Given the description of an element on the screen output the (x, y) to click on. 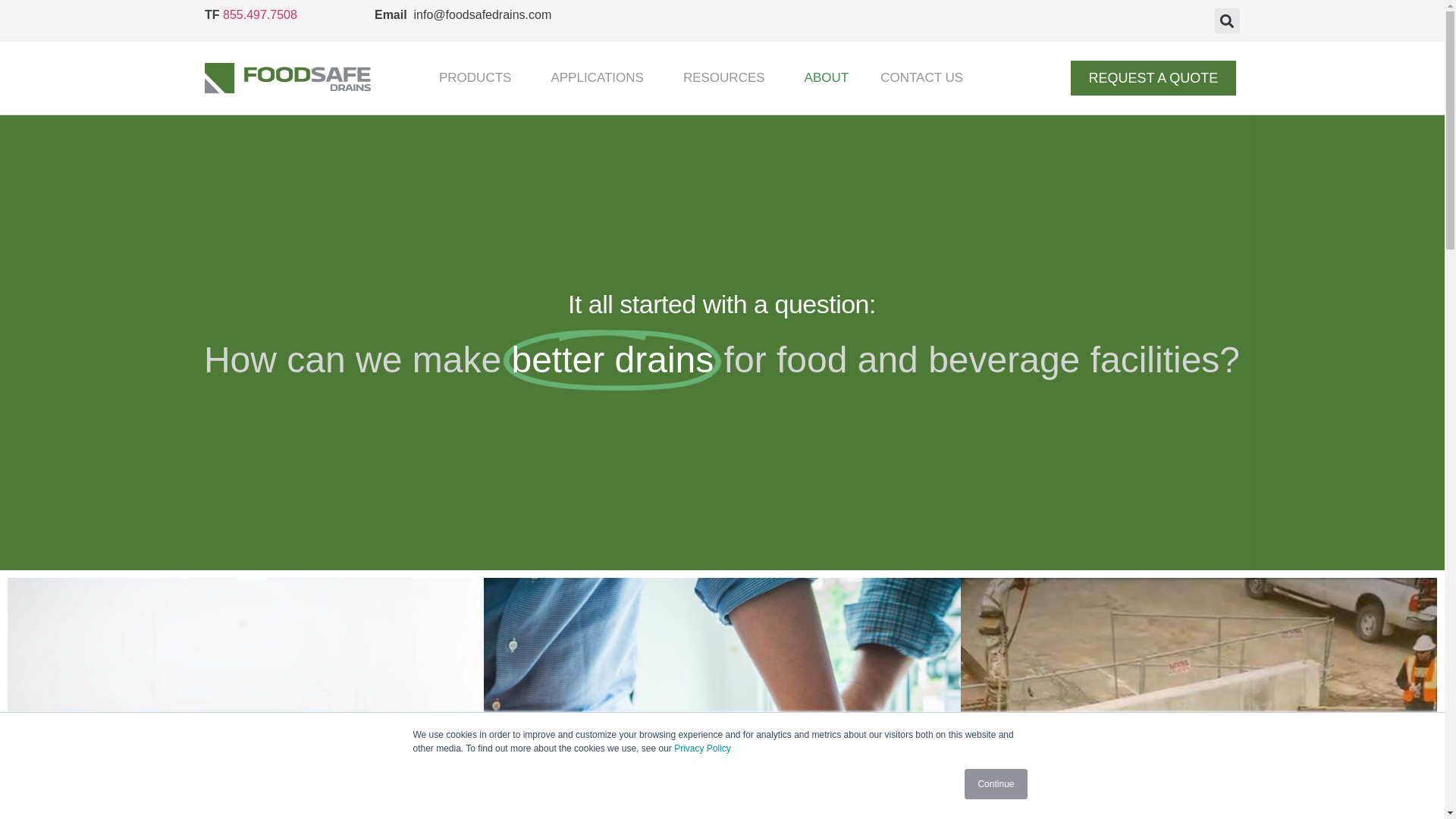
APPLICATIONS (601, 77)
CONTACT US (921, 77)
Continue (994, 784)
ABOUT (826, 77)
PRODUCTS (478, 77)
855.497.7508 (259, 14)
Privacy Policy (702, 747)
RESOURCES (727, 77)
